Given the description of an element on the screen output the (x, y) to click on. 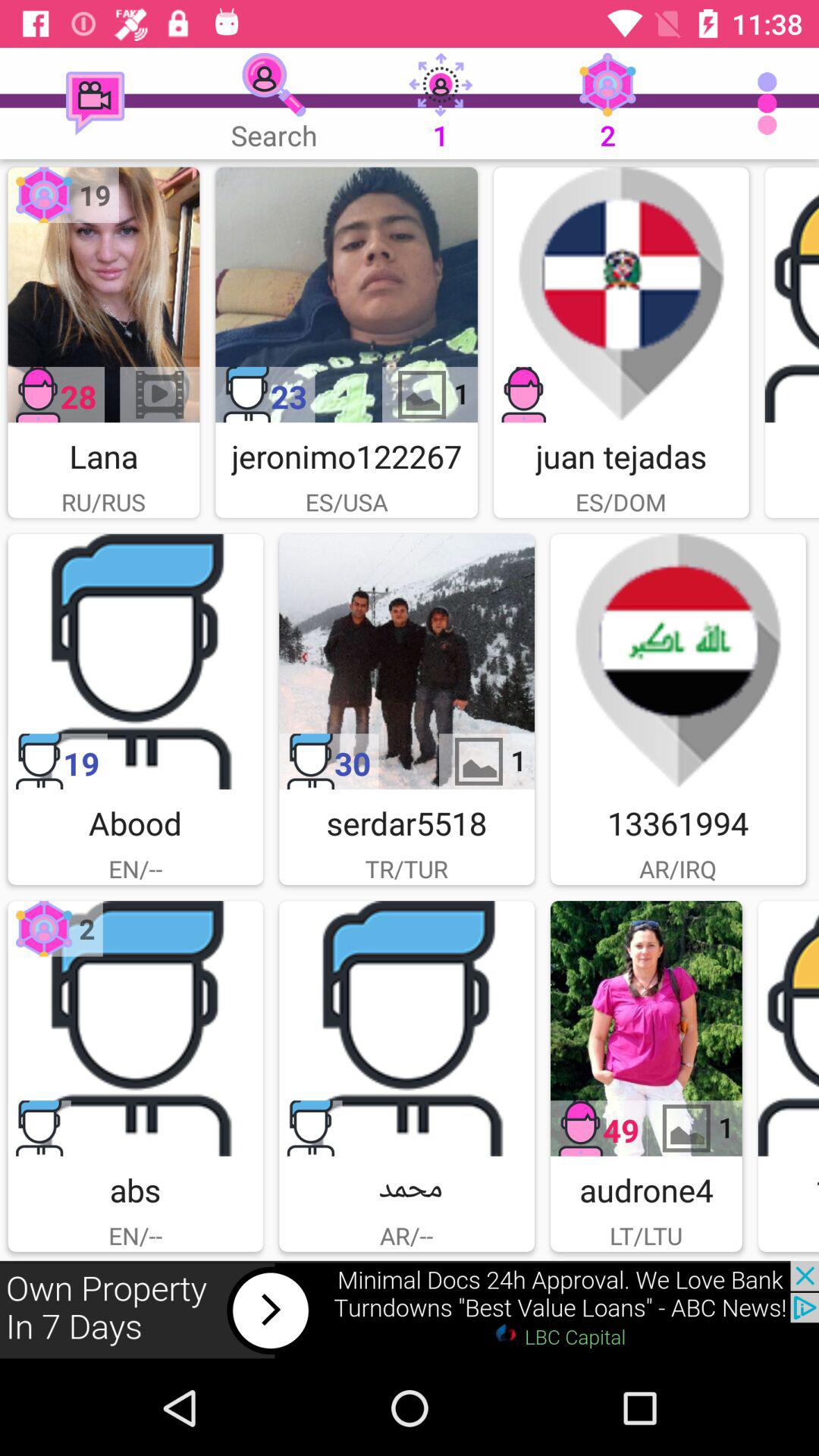
view profile (103, 294)
